Given the description of an element on the screen output the (x, y) to click on. 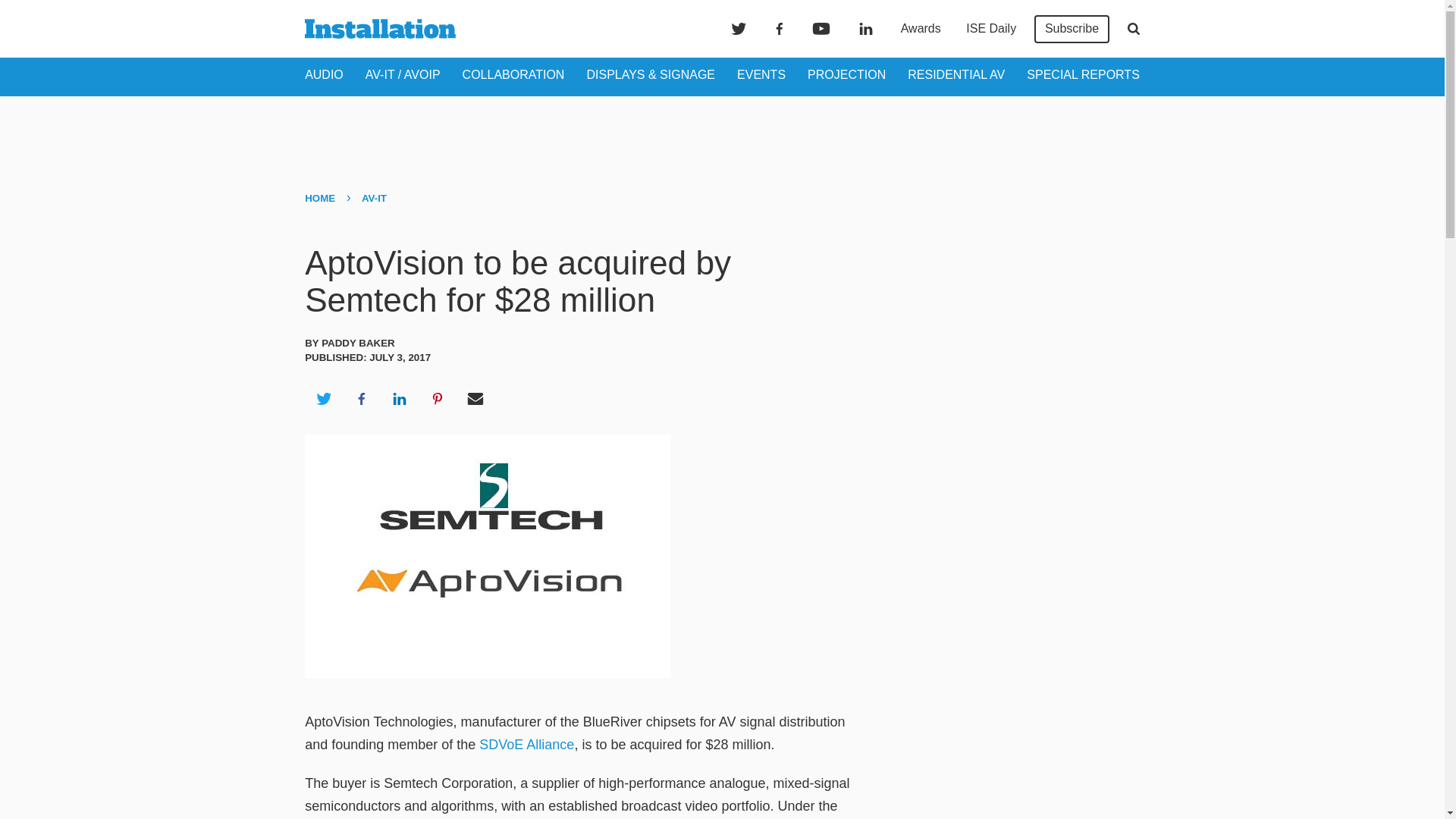
Share via Email (476, 398)
Share on Facebook (361, 398)
Awards (921, 29)
COLLABORATION (513, 74)
Share on Pinterest (438, 398)
Share on LinkedIn (399, 398)
ISE Daily (990, 29)
AUDIO (323, 74)
Share on Twitter (323, 398)
Paddy Baker's Author Profile (357, 342)
